Given the description of an element on the screen output the (x, y) to click on. 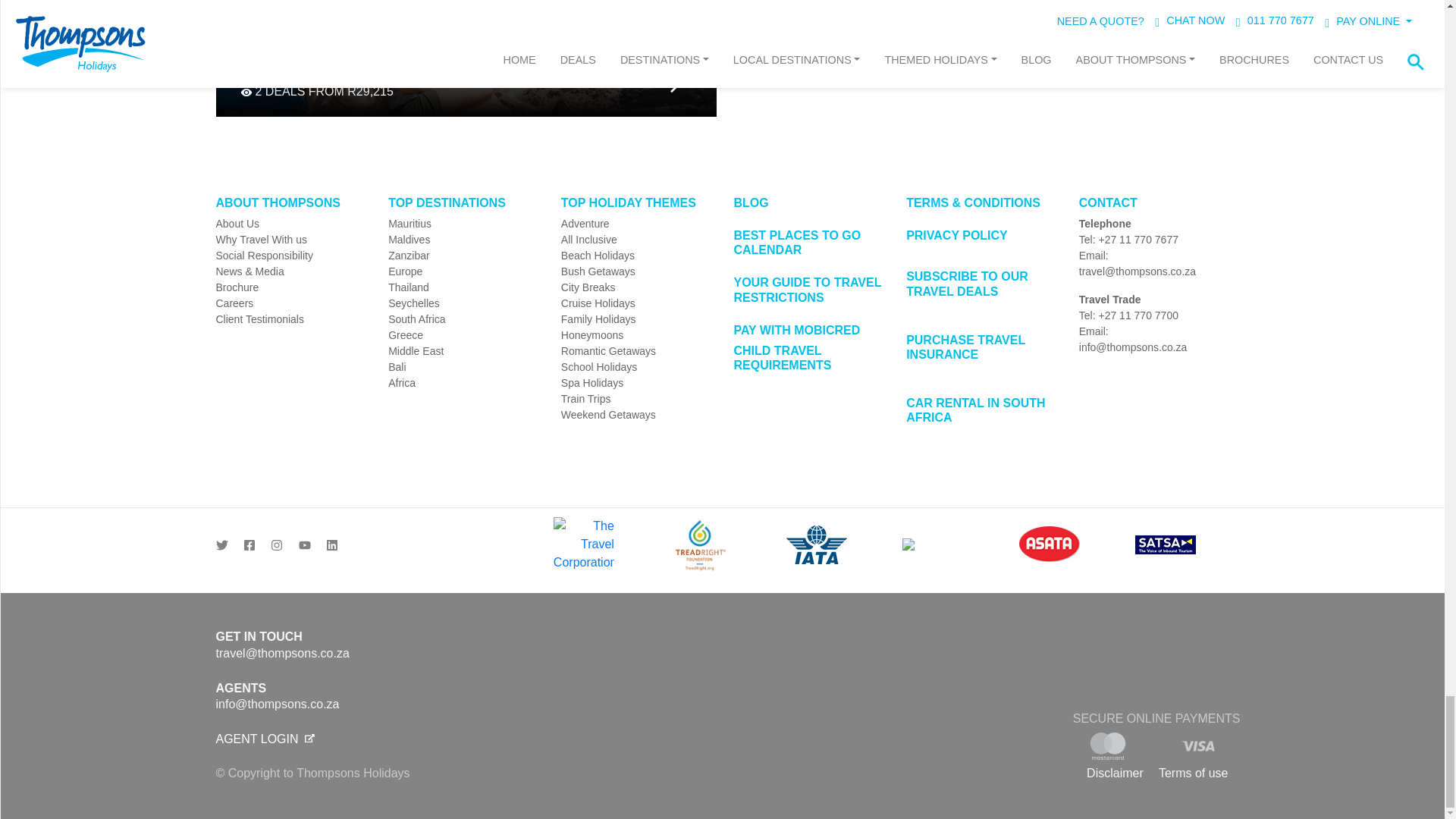
Middle East (463, 351)
Maldives (463, 239)
Greece (463, 335)
Thailand (463, 287)
Zanzibar (463, 255)
Mauritius (463, 223)
Africa (463, 383)
Adventure Holidays (635, 223)
Travel Brochures (290, 287)
Europe (463, 271)
